Given the description of an element on the screen output the (x, y) to click on. 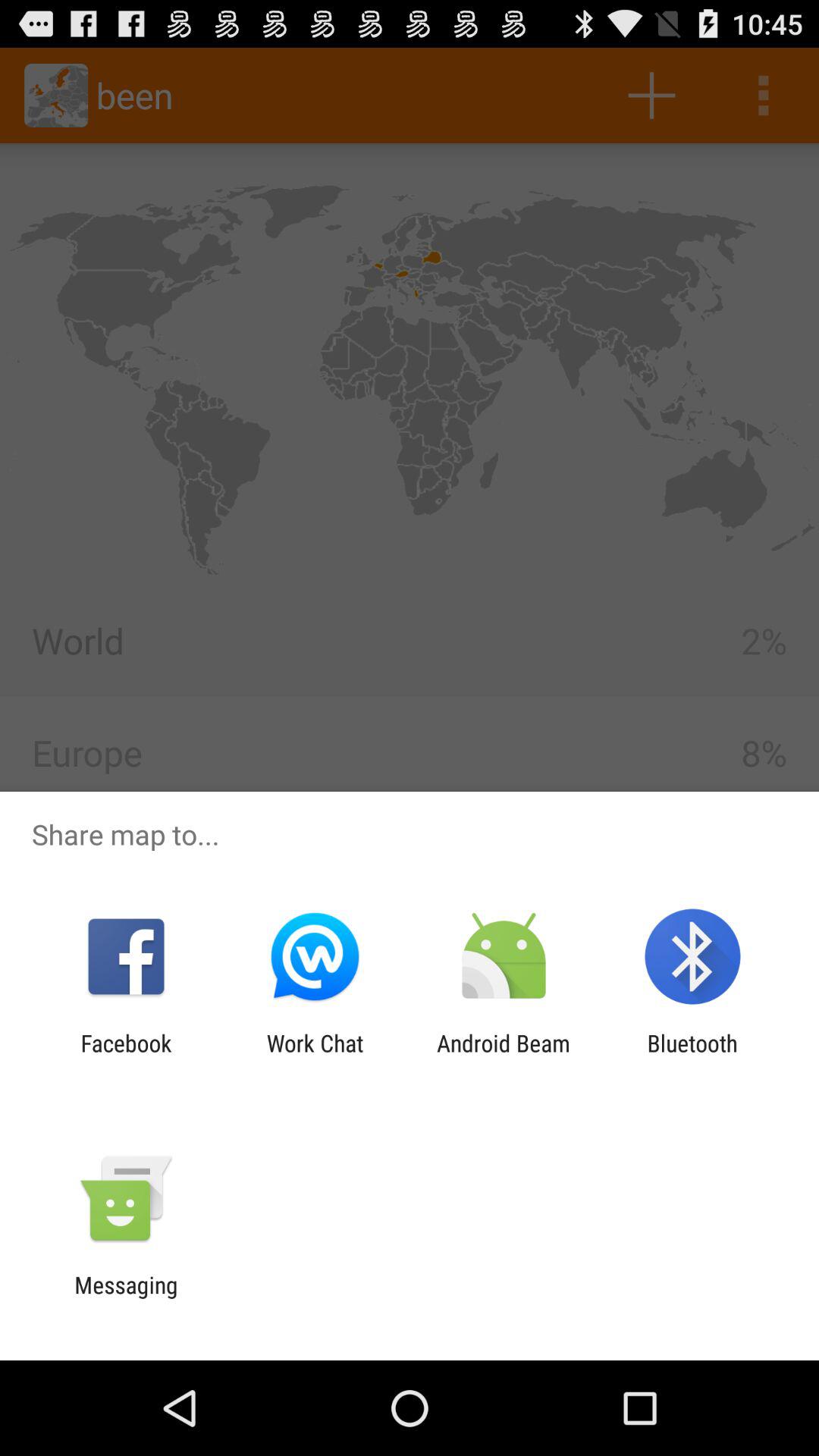
choose the icon next to android beam icon (692, 1056)
